Given the description of an element on the screen output the (x, y) to click on. 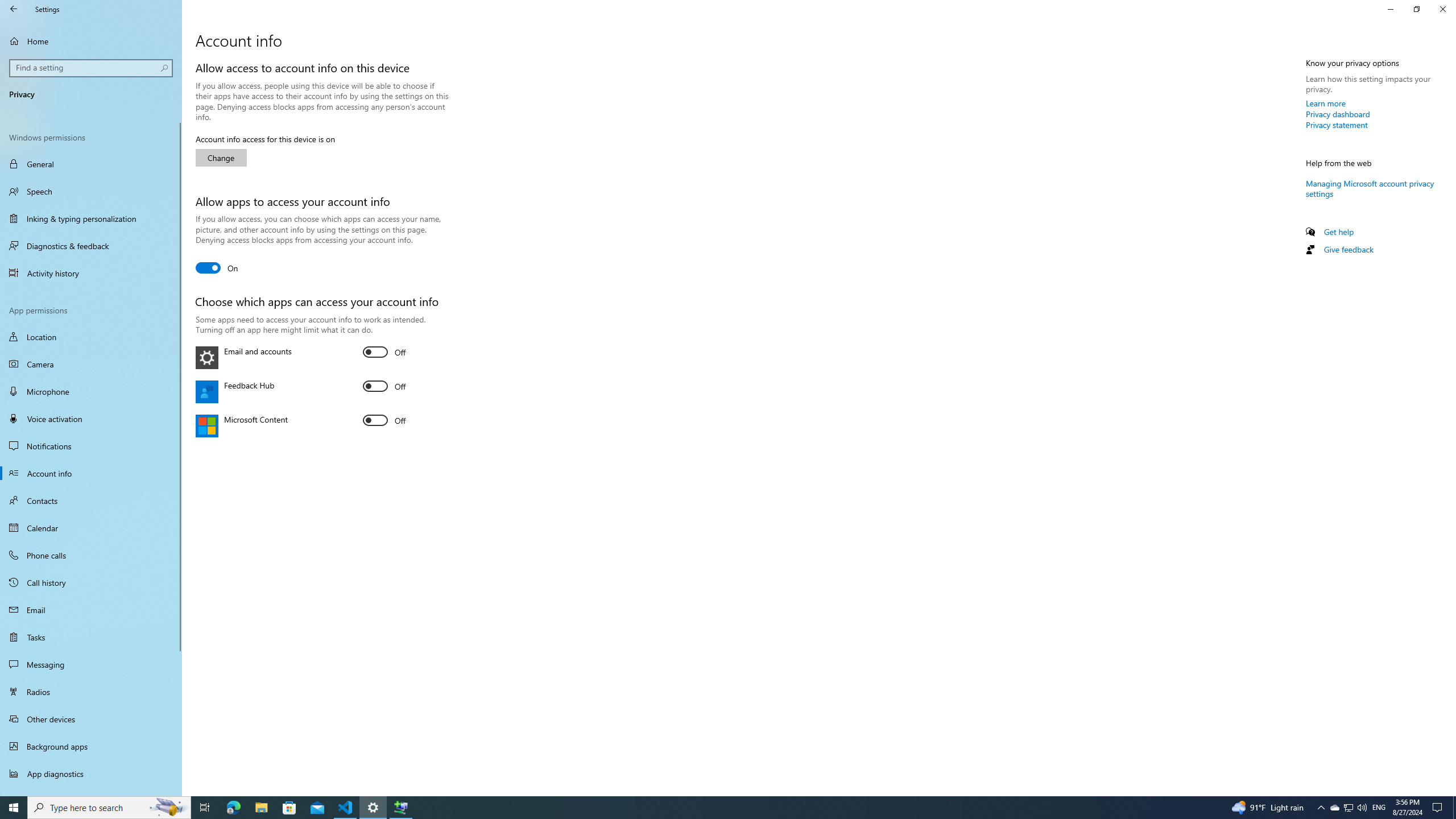
Back (13, 9)
App diagnostics (91, 773)
